Given the description of an element on the screen output the (x, y) to click on. 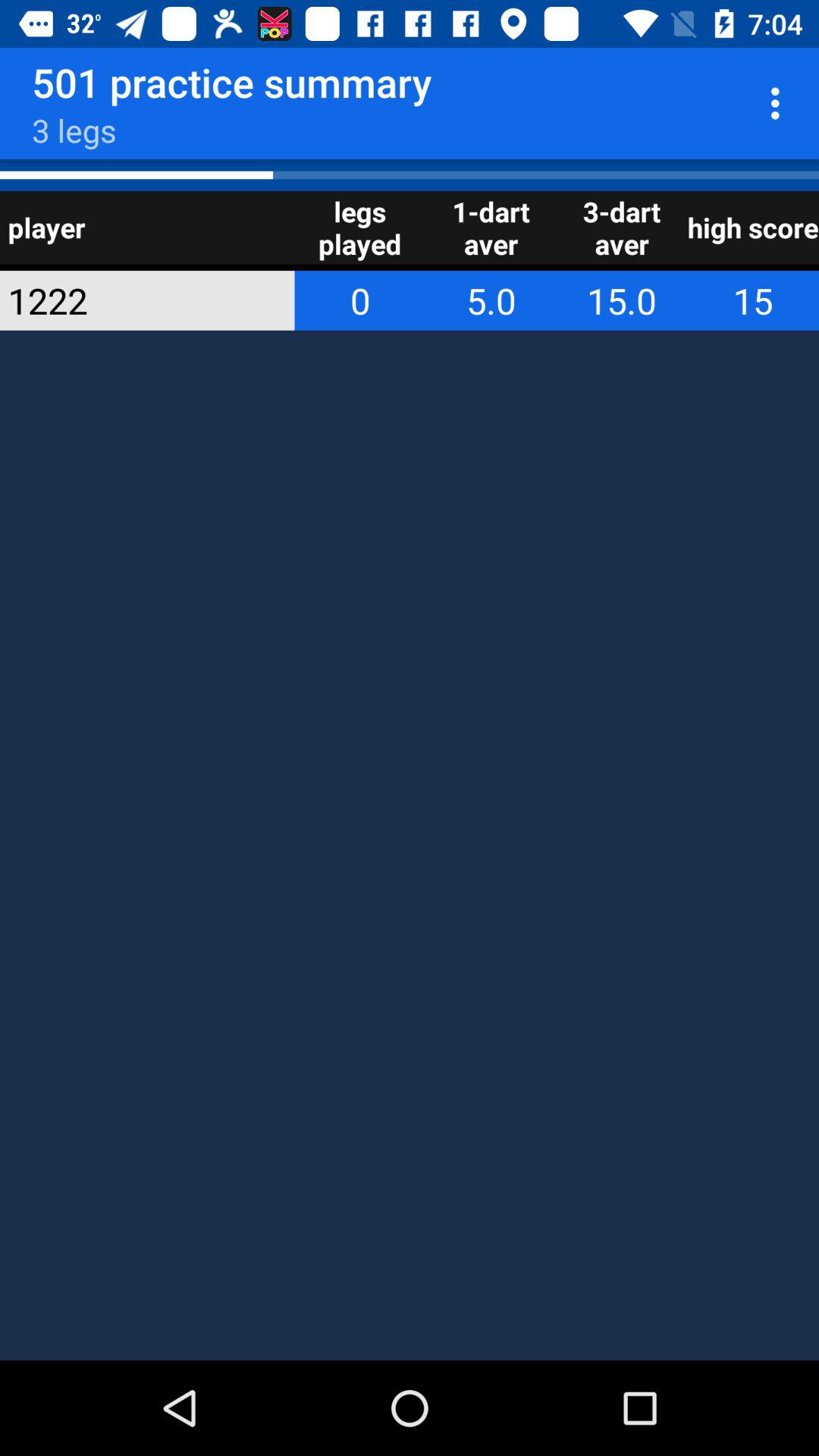
turn on app below player item (126, 300)
